Given the description of an element on the screen output the (x, y) to click on. 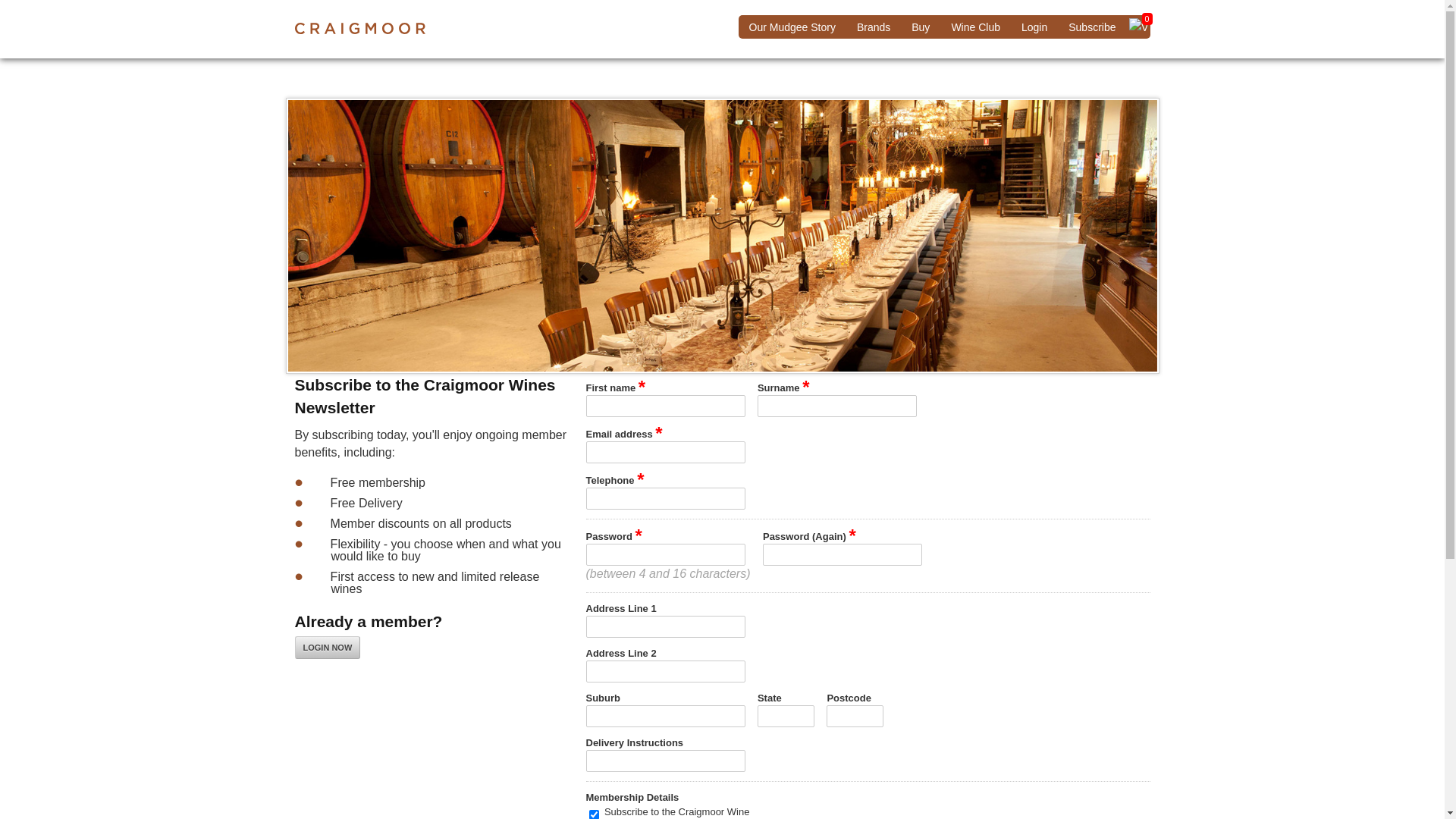
LOGIN NOW Element type: text (327, 646)
Brands Element type: text (873, 26)
Login Element type: text (1033, 26)
LOGIN NOW Element type: text (327, 647)
Buy Element type: text (920, 26)
Subscribe Element type: text (1091, 26)
Our Mudgee Story Element type: text (792, 26)
Wine Club Element type: text (975, 26)
0 Element type: text (1138, 26)
